Given the description of an element on the screen output the (x, y) to click on. 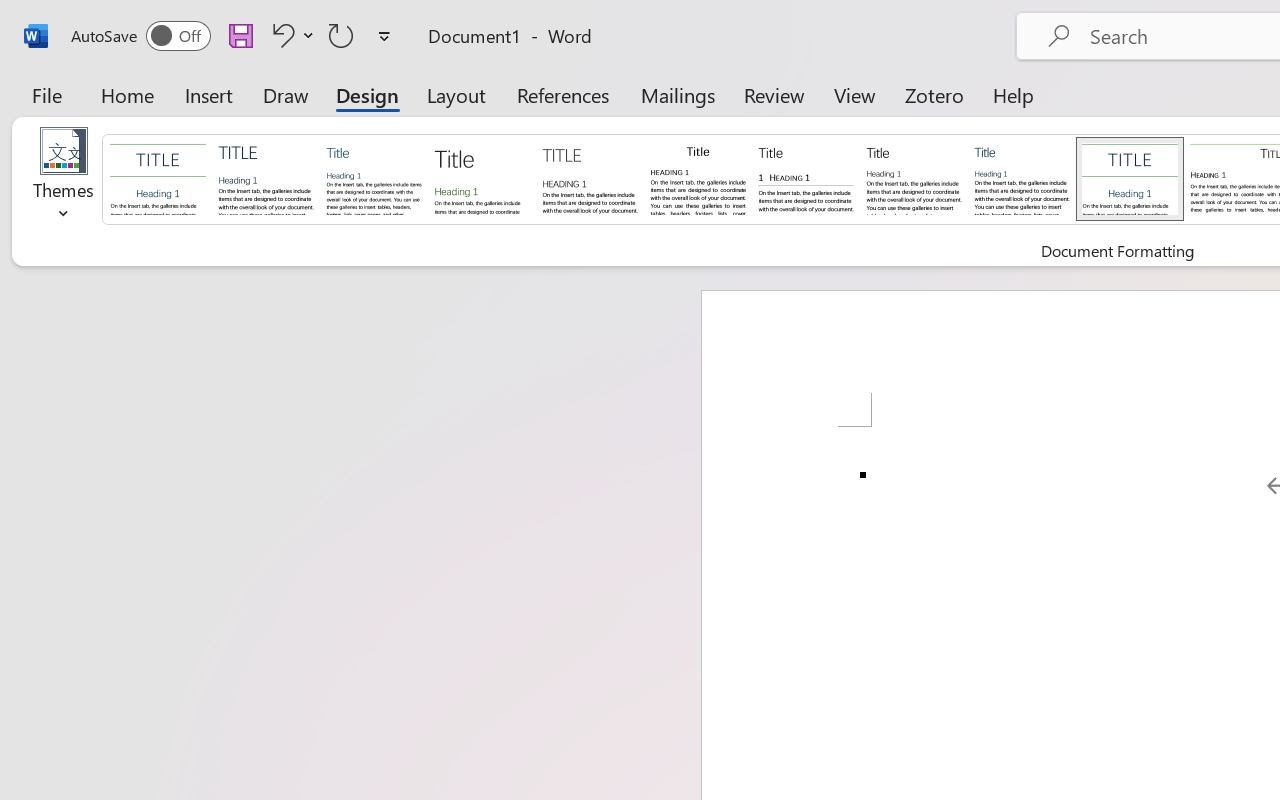
Basic (Stylish) (481, 178)
Black & White (Numbered) (806, 178)
Repeat Style (341, 35)
